Given the description of an element on the screen output the (x, y) to click on. 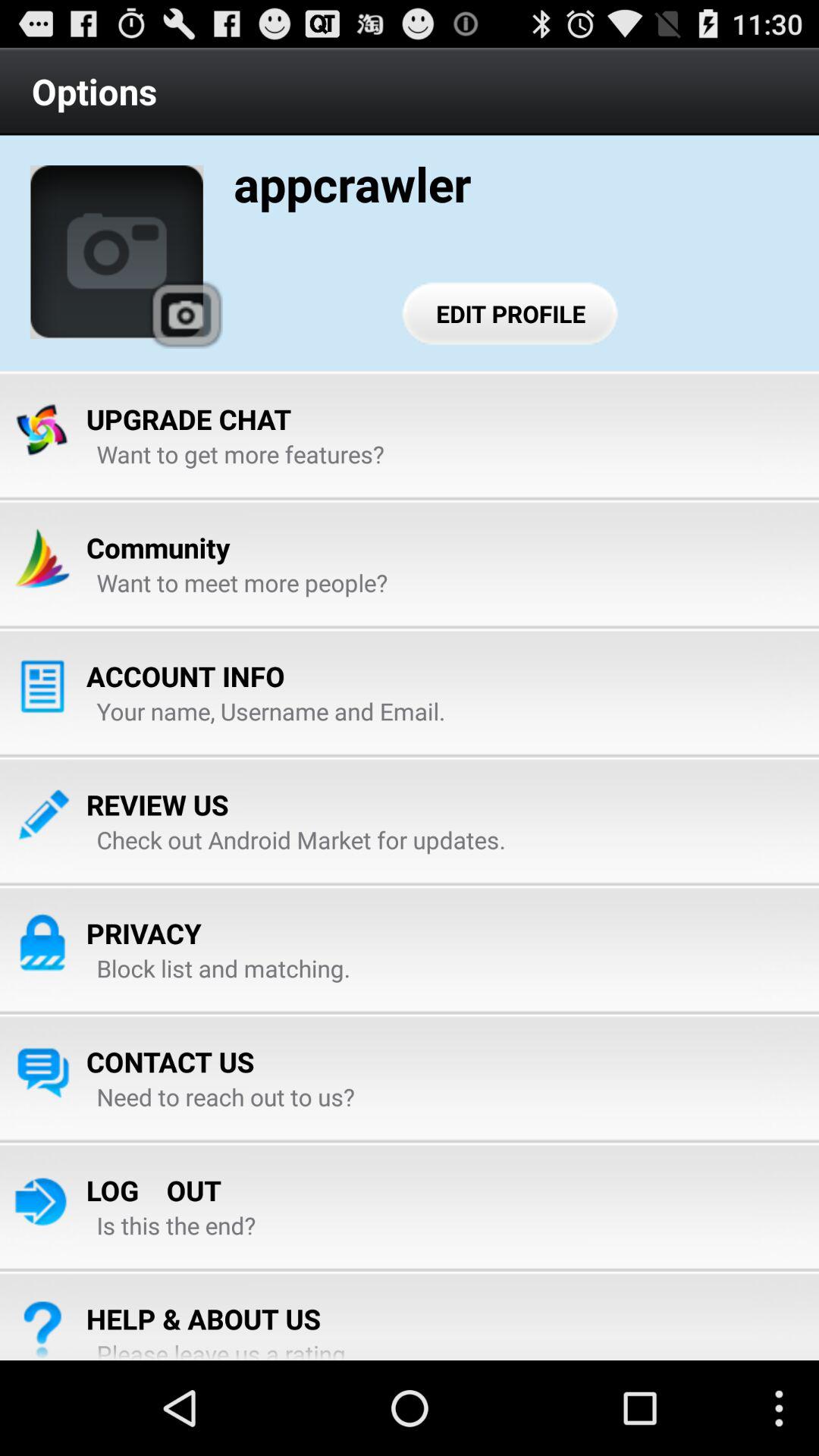
click app below the options icon (185, 314)
